Given the description of an element on the screen output the (x, y) to click on. 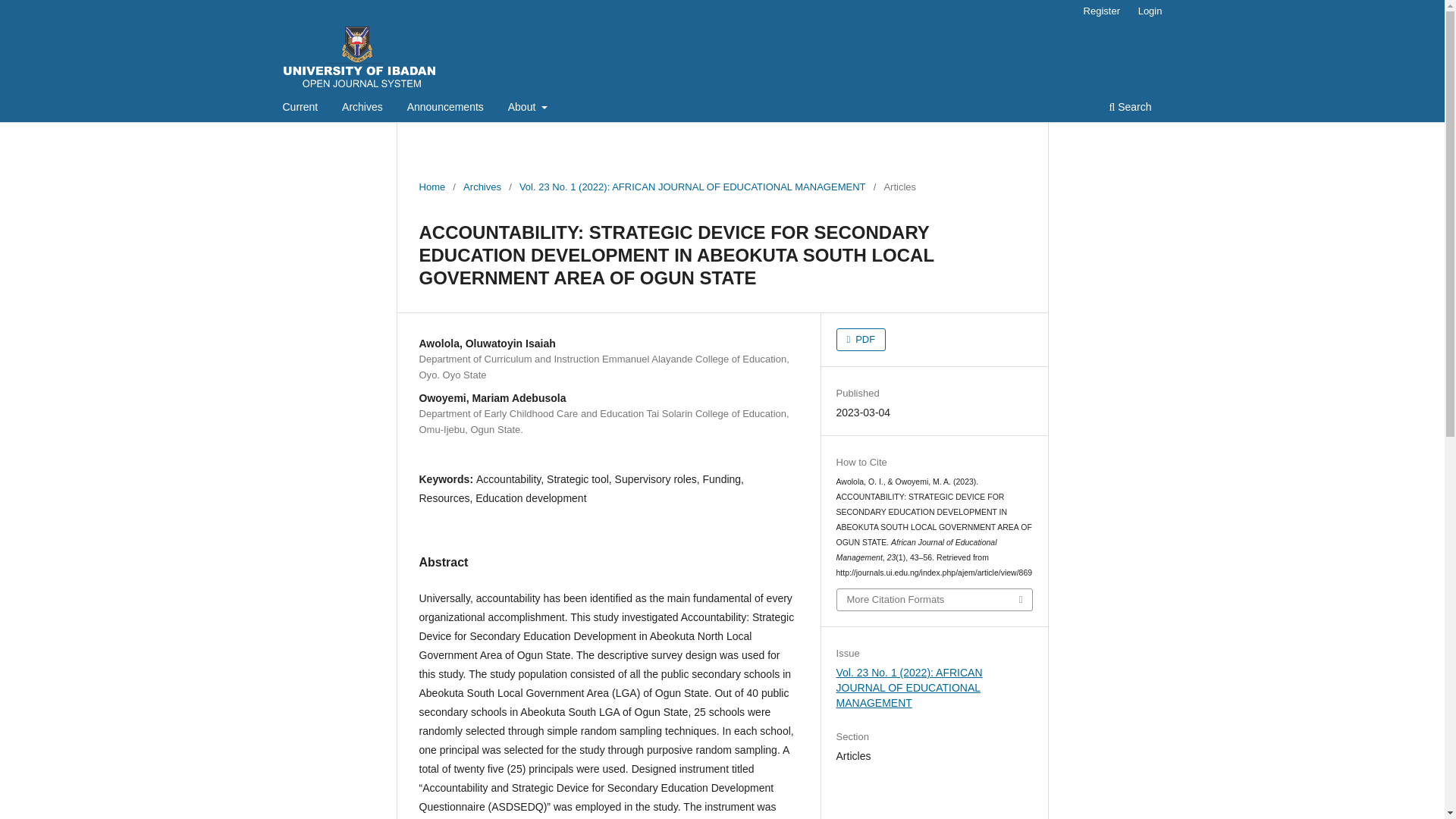
Search (1129, 108)
Current (300, 108)
Announcements (445, 108)
Archives (481, 186)
Home (432, 186)
Register (1100, 11)
More Citation Formats (934, 599)
PDF (860, 339)
Archives (362, 108)
About (527, 108)
Login (1150, 11)
